Given the description of an element on the screen output the (x, y) to click on. 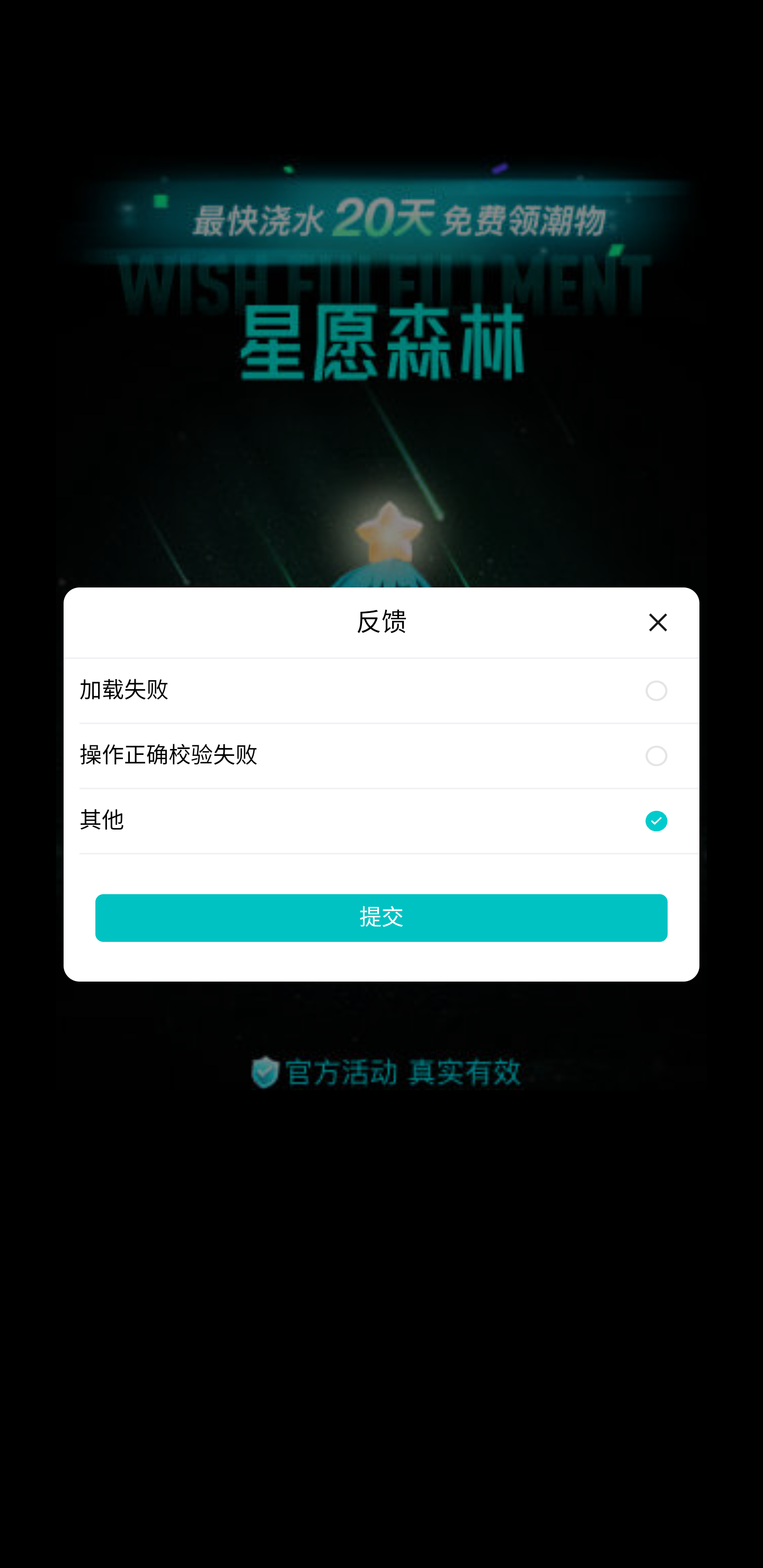
提交 (381, 917)
